Given the description of an element on the screen output the (x, y) to click on. 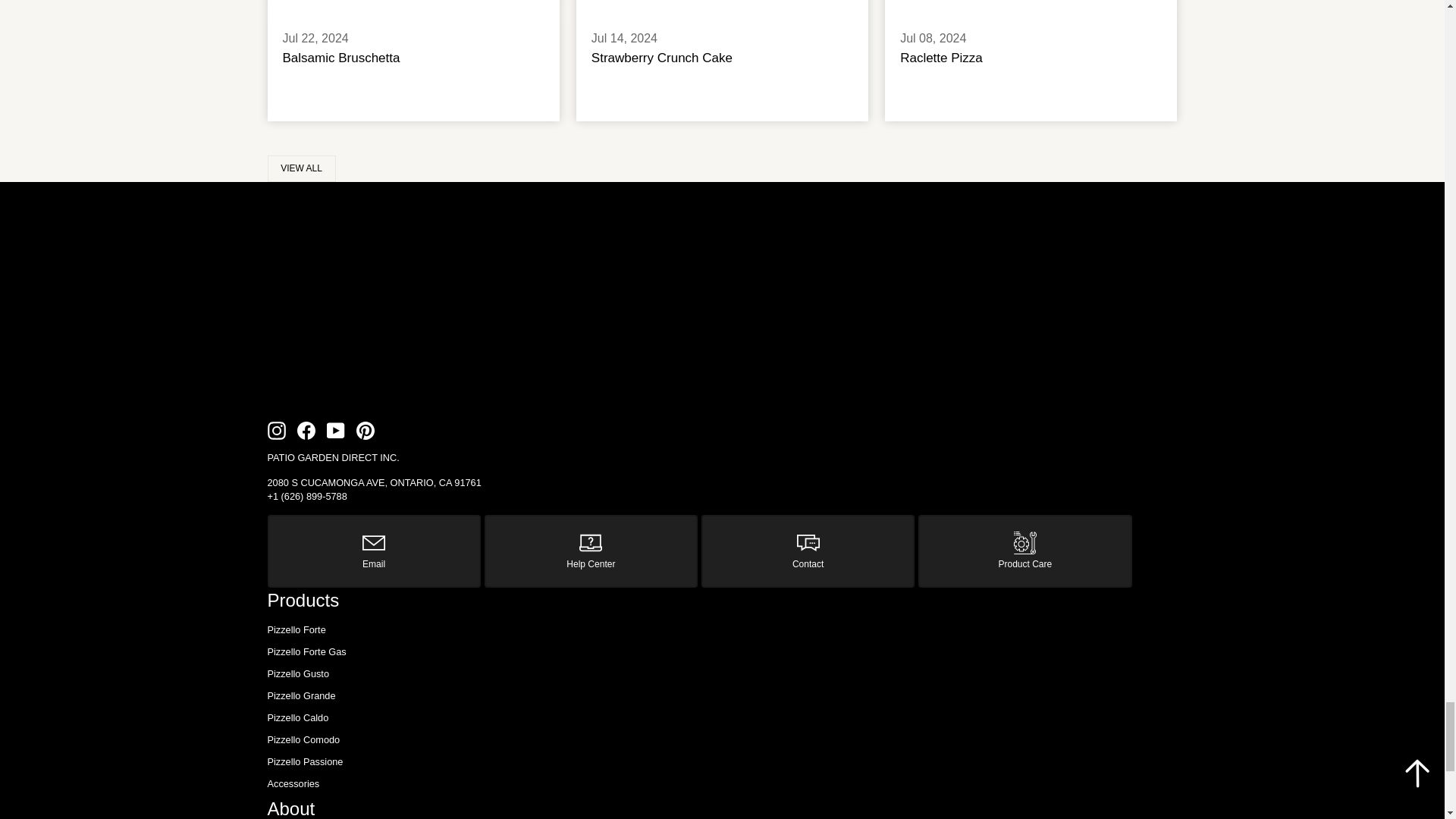
Pizzello on Pinterest (365, 430)
Pizzello on YouTube (334, 430)
Pizzello on Instagram (275, 430)
Pizzello on Facebook (306, 430)
